Given the description of an element on the screen output the (x, y) to click on. 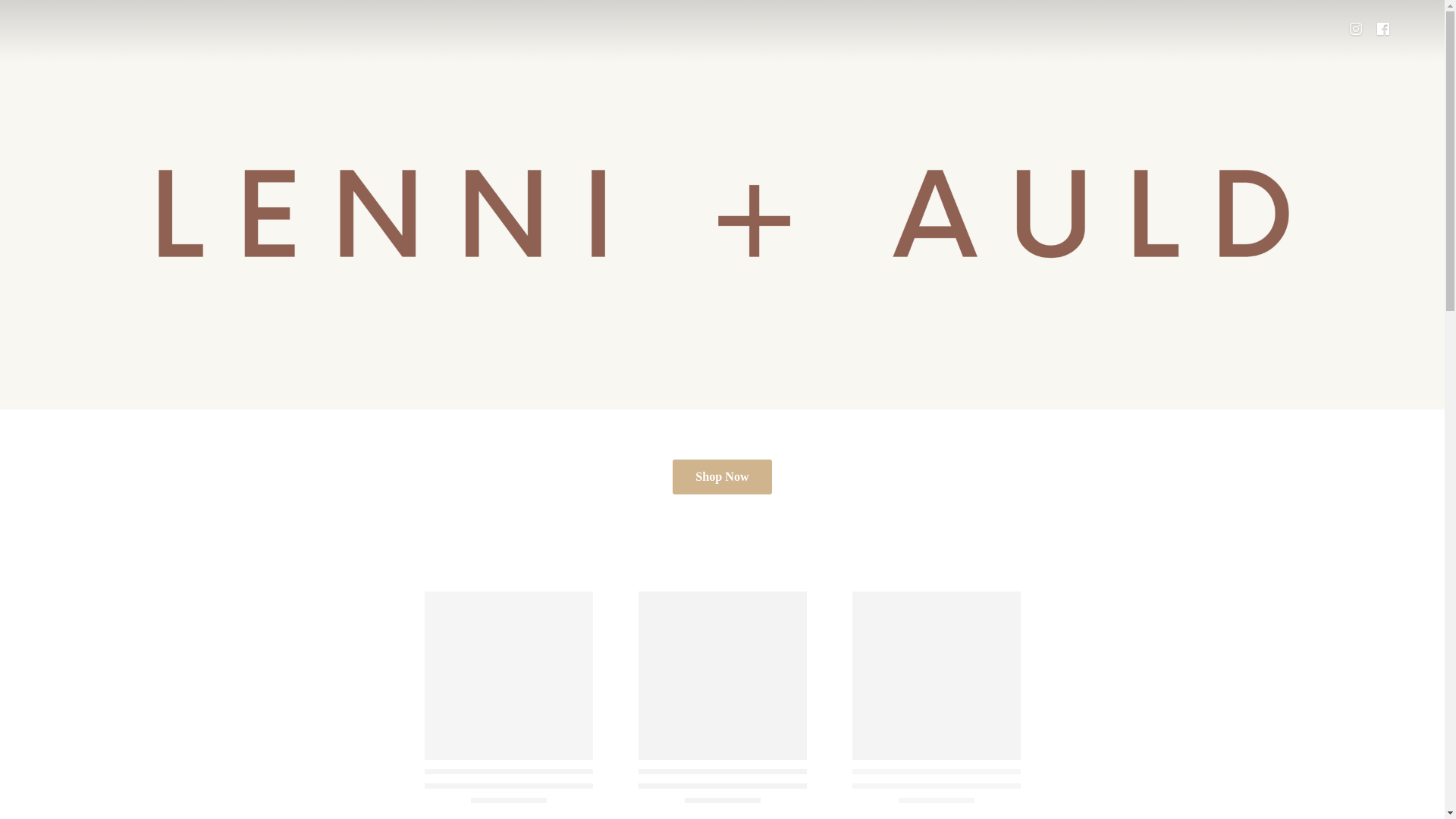
Shop Now (721, 476)
